Given the description of an element on the screen output the (x, y) to click on. 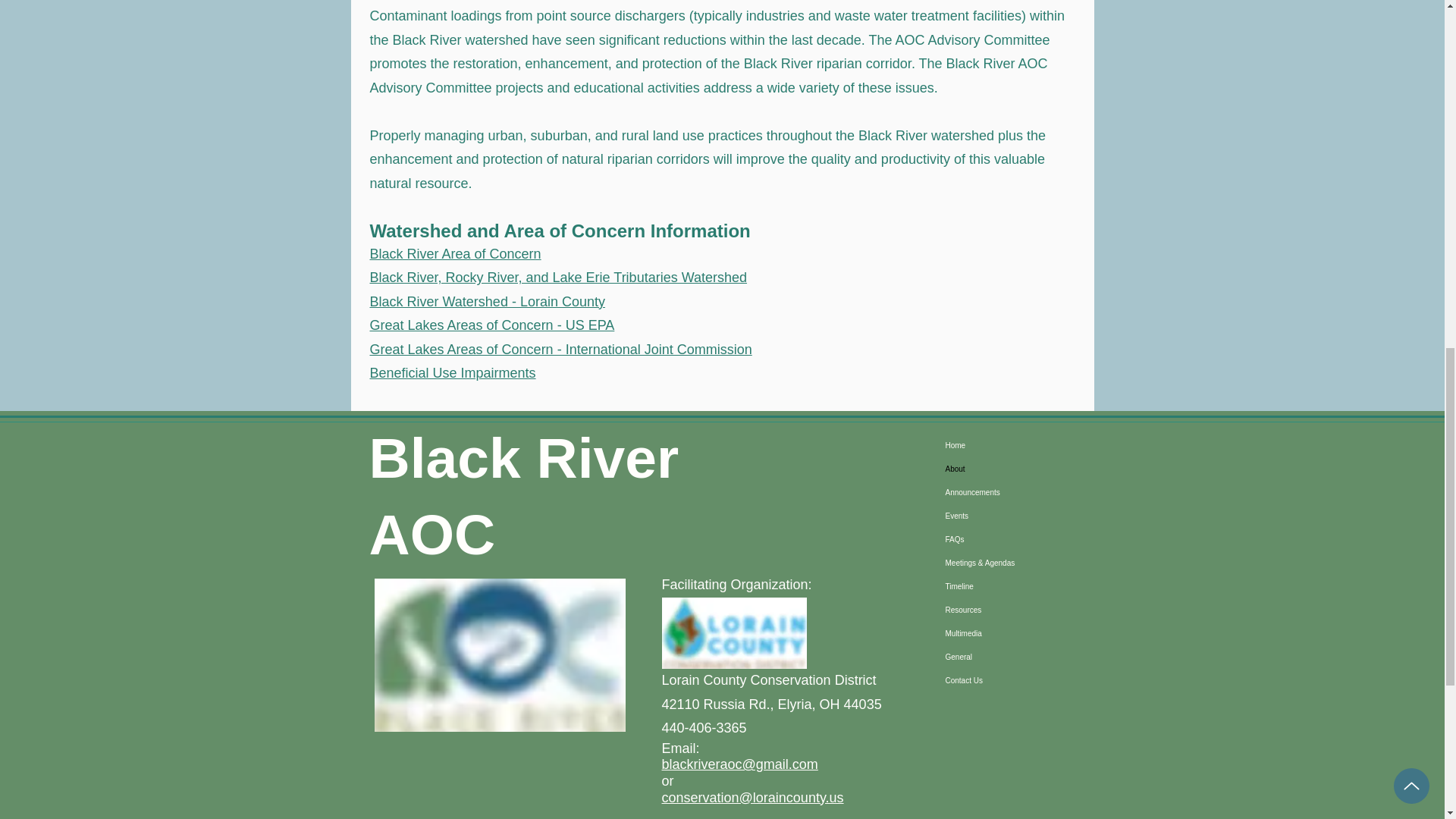
440-406-3365 (703, 727)
General (1016, 657)
About (1016, 468)
Announcements (1016, 492)
Timeline (1016, 586)
Multimedia (1016, 633)
Black River Area of Concern (455, 253)
Black River Watershed - Lorain County (487, 301)
Resources (1016, 609)
Great Lakes Areas of Concern - US EPA (491, 324)
Contact Us (1016, 680)
Home (1016, 445)
FAQs (1016, 539)
